Given the description of an element on the screen output the (x, y) to click on. 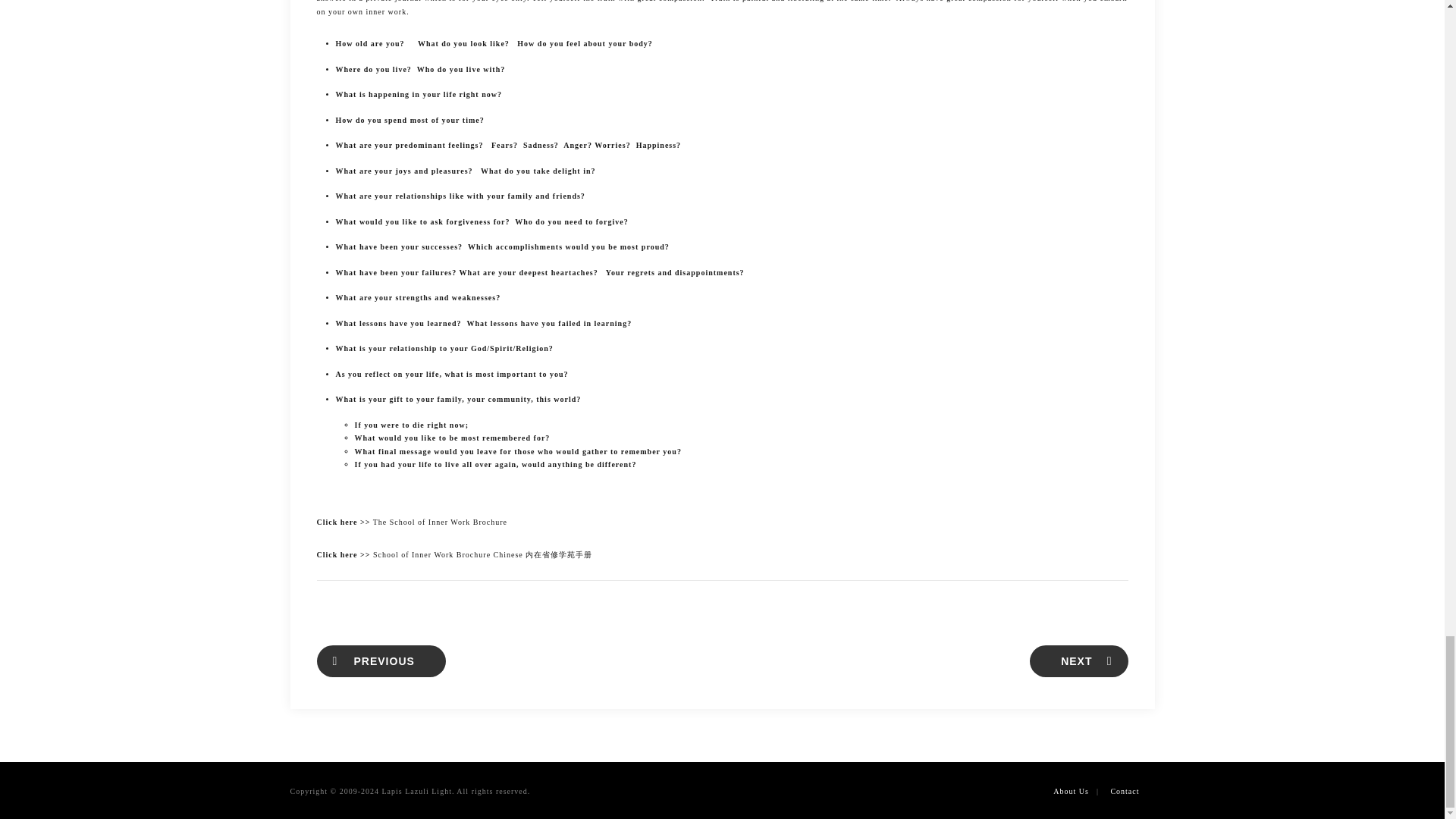
Contact (1123, 791)
The School of Inner Work Brochure (439, 521)
PREVIOUS (381, 661)
NEXT (1077, 661)
About Us (1070, 791)
The Healing Power of the Heart (381, 661)
